Given the description of an element on the screen output the (x, y) to click on. 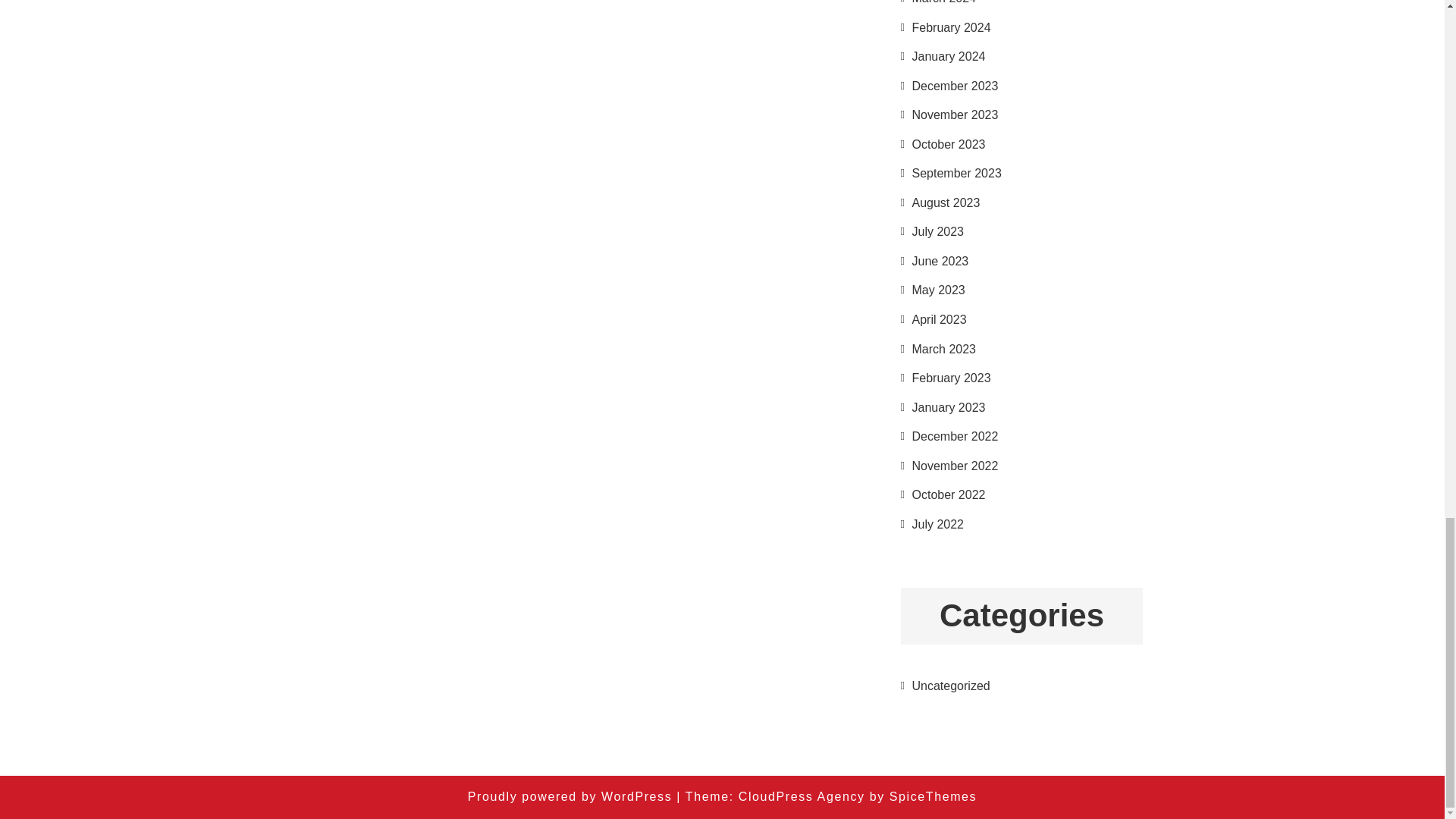
October 2022 (948, 494)
December 2023 (954, 85)
April 2023 (938, 318)
June 2023 (939, 260)
July 2023 (937, 231)
January 2023 (948, 407)
October 2023 (948, 144)
May 2023 (937, 289)
December 2022 (954, 436)
March 2024 (943, 2)
January 2024 (948, 56)
September 2023 (956, 173)
February 2024 (950, 26)
August 2023 (945, 202)
November 2022 (954, 465)
